Given the description of an element on the screen output the (x, y) to click on. 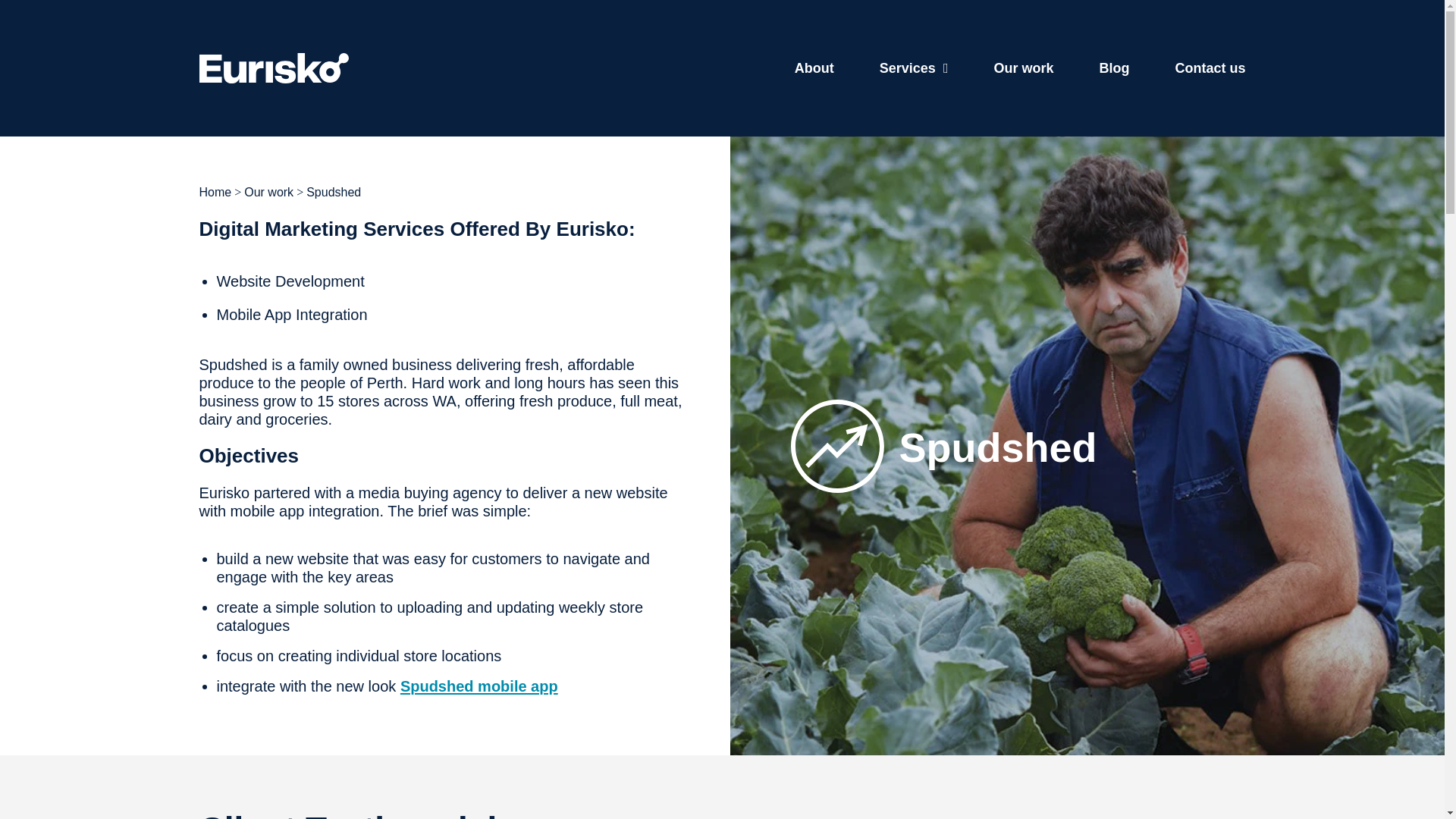
Home (214, 192)
Services (914, 68)
Contact us (1209, 68)
About (814, 68)
Our work (1022, 68)
Blog (1114, 68)
Our work (269, 192)
Spudshed mobile app (478, 686)
